Given the description of an element on the screen output the (x, y) to click on. 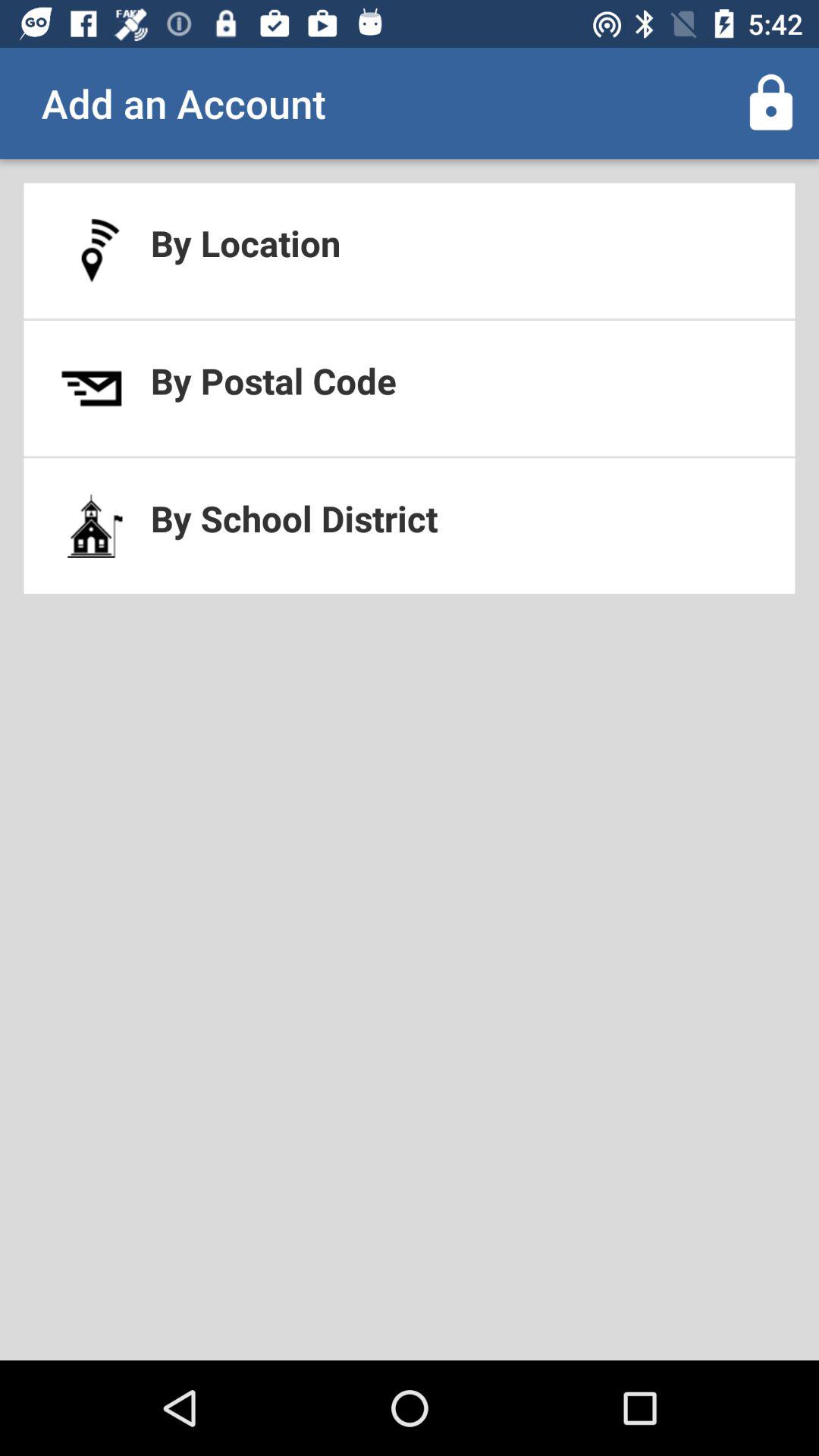
press the item above the    by school district icon (409, 388)
